Given the description of an element on the screen output the (x, y) to click on. 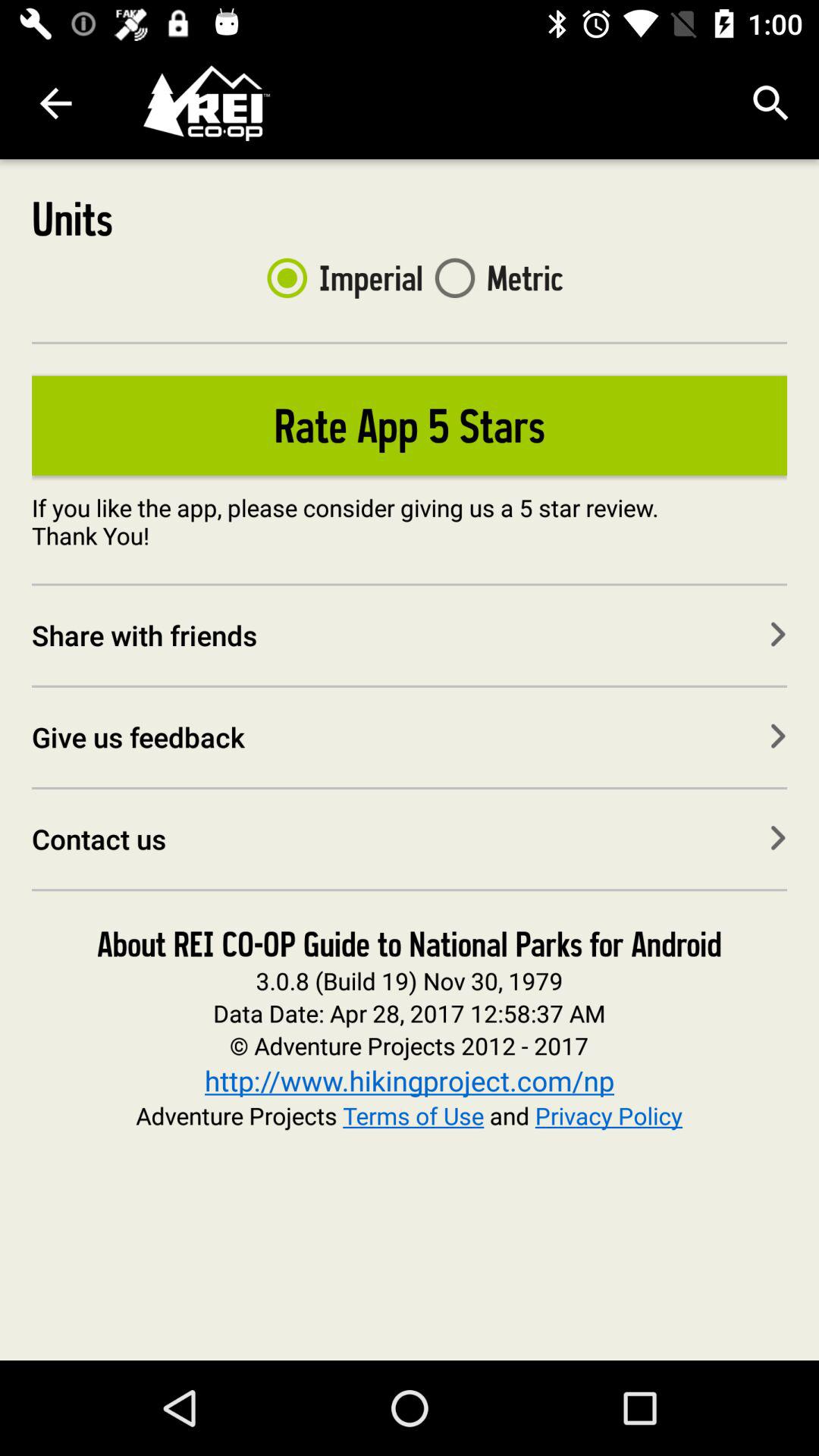
scroll until imperial item (339, 277)
